Given the description of an element on the screen output the (x, y) to click on. 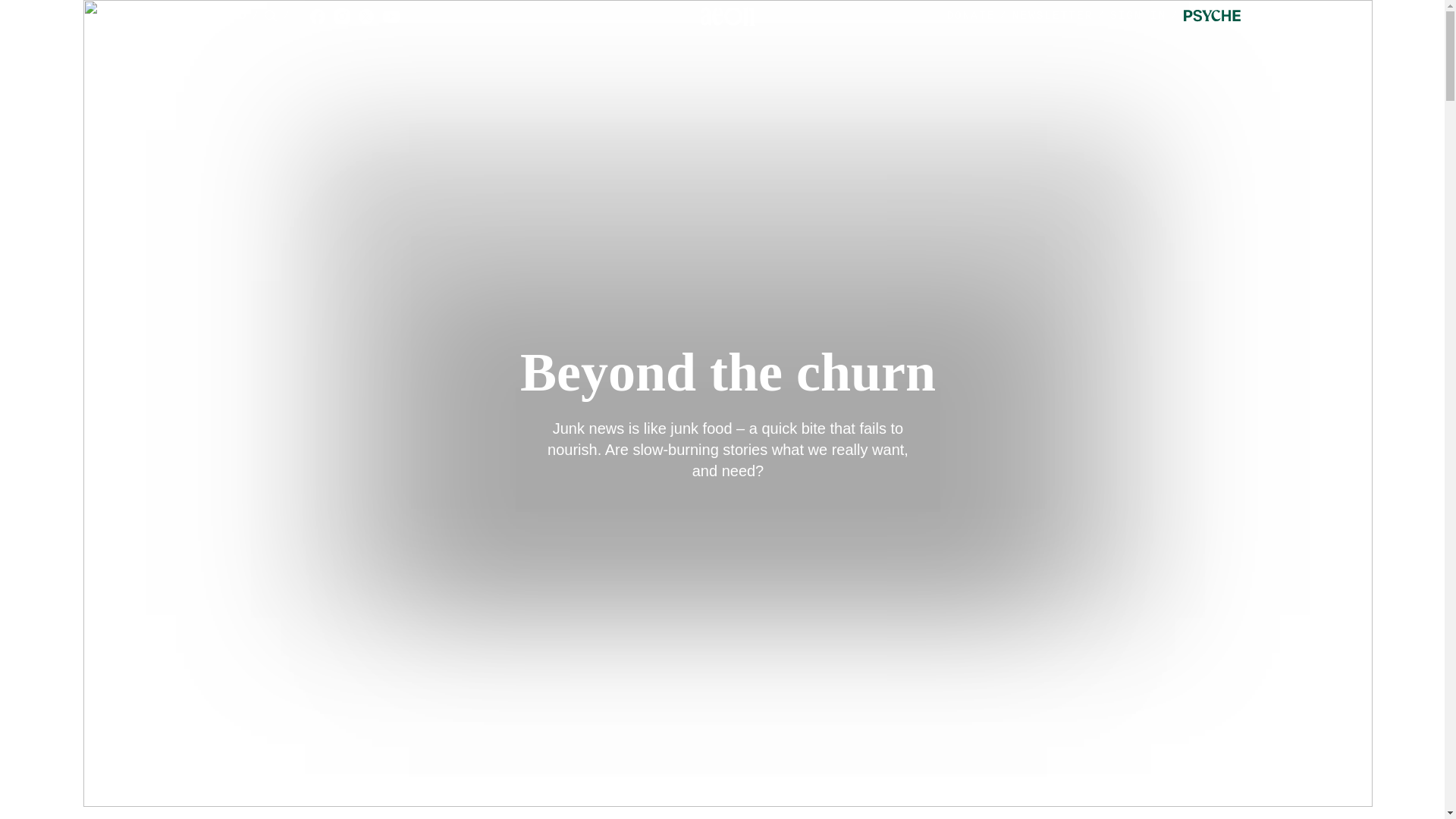
Psyche (1211, 17)
DONATE (970, 15)
Sign in (1146, 16)
